Given the description of an element on the screen output the (x, y) to click on. 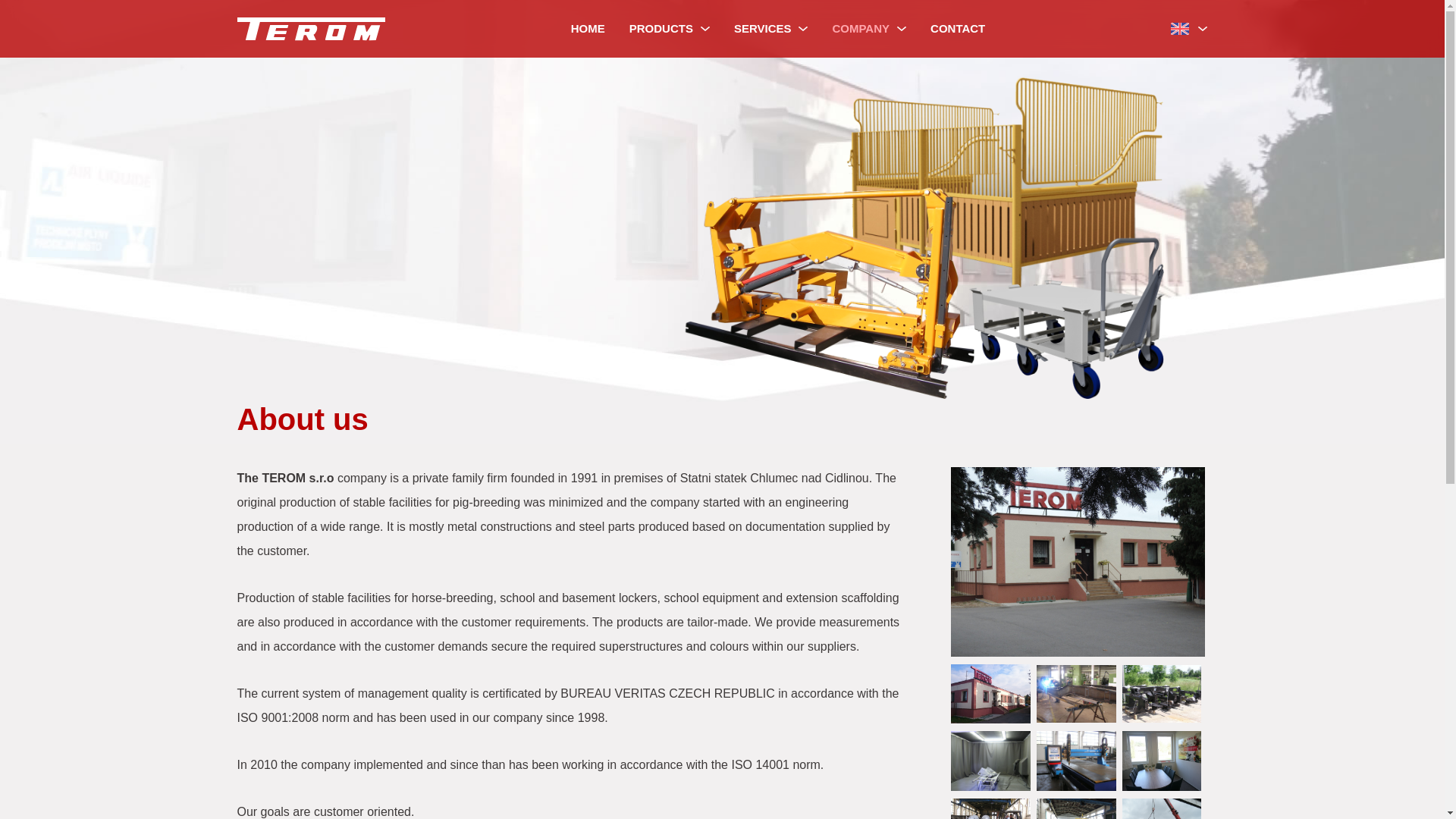
About us (1163, 696)
About us (1163, 763)
About us (1078, 563)
COMPANY (868, 28)
Terom - Back to homepage (309, 28)
About us (1077, 763)
About us (991, 696)
About us (1077, 696)
CONTACT (957, 28)
SERVICES (771, 28)
About us (991, 763)
HOME (588, 28)
PRODUCTS (669, 28)
